Given the description of an element on the screen output the (x, y) to click on. 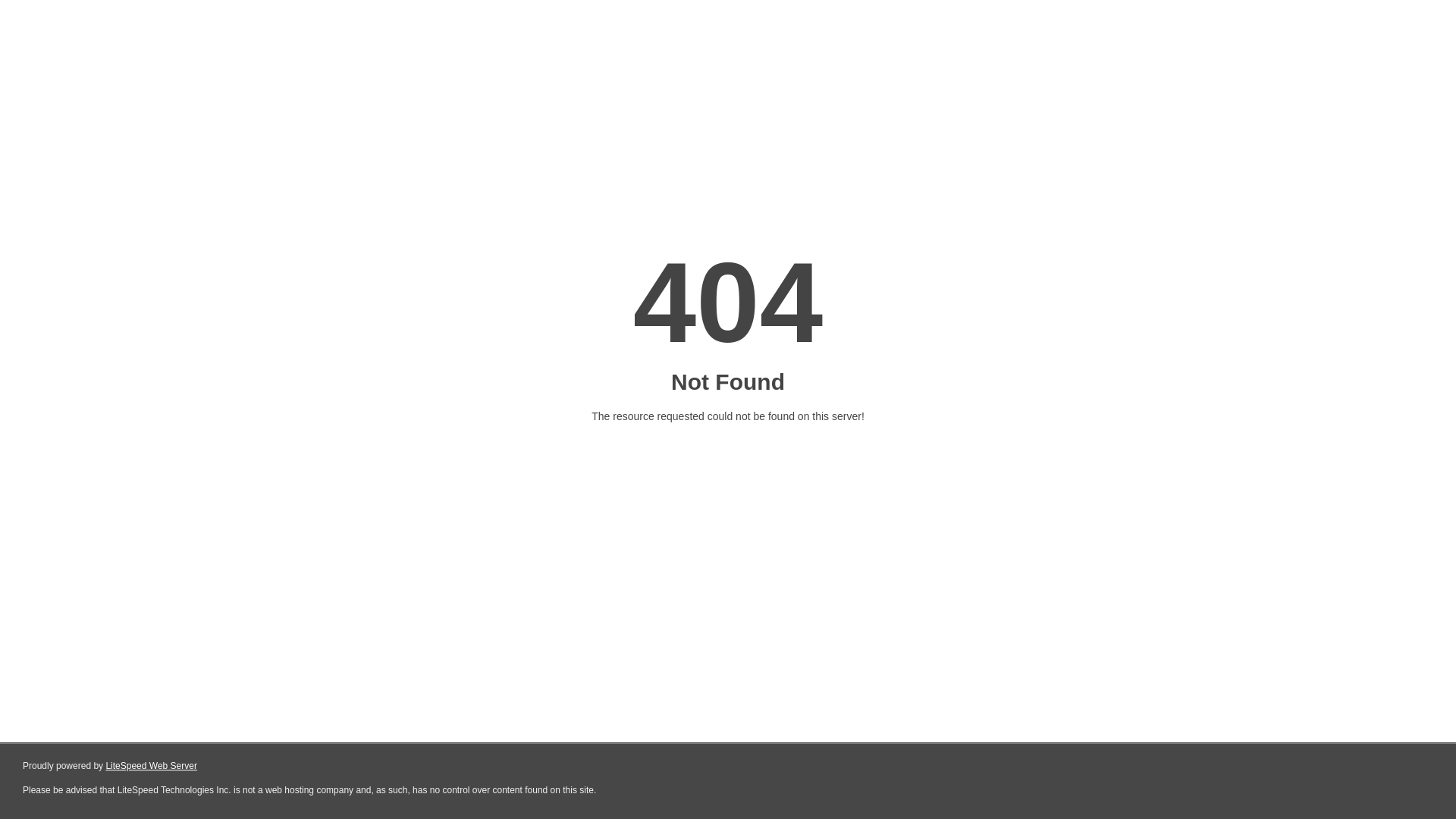
LiteSpeed Web Server Element type: text (151, 765)
